Given the description of an element on the screen output the (x, y) to click on. 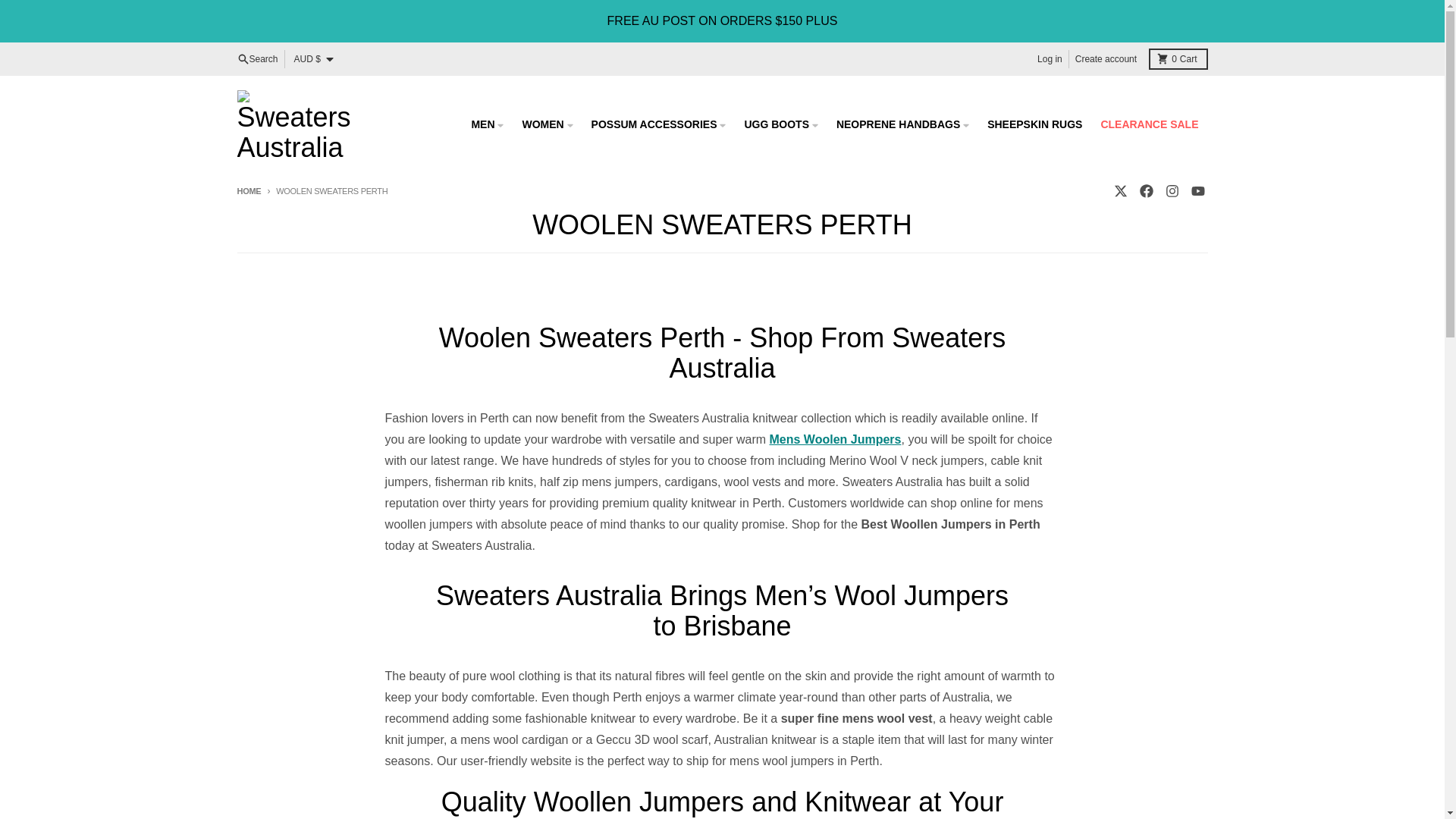
Twitter - Sweaters Australia (1119, 190)
YouTube - Sweaters Australia (1197, 190)
Create account (1105, 58)
mens woollen jumpers (835, 439)
Instagram - Sweaters Australia (1177, 58)
Search (1170, 190)
Facebook - Sweaters Australia (256, 58)
Back to the homepage (1145, 190)
Log in (247, 190)
